Given the description of an element on the screen output the (x, y) to click on. 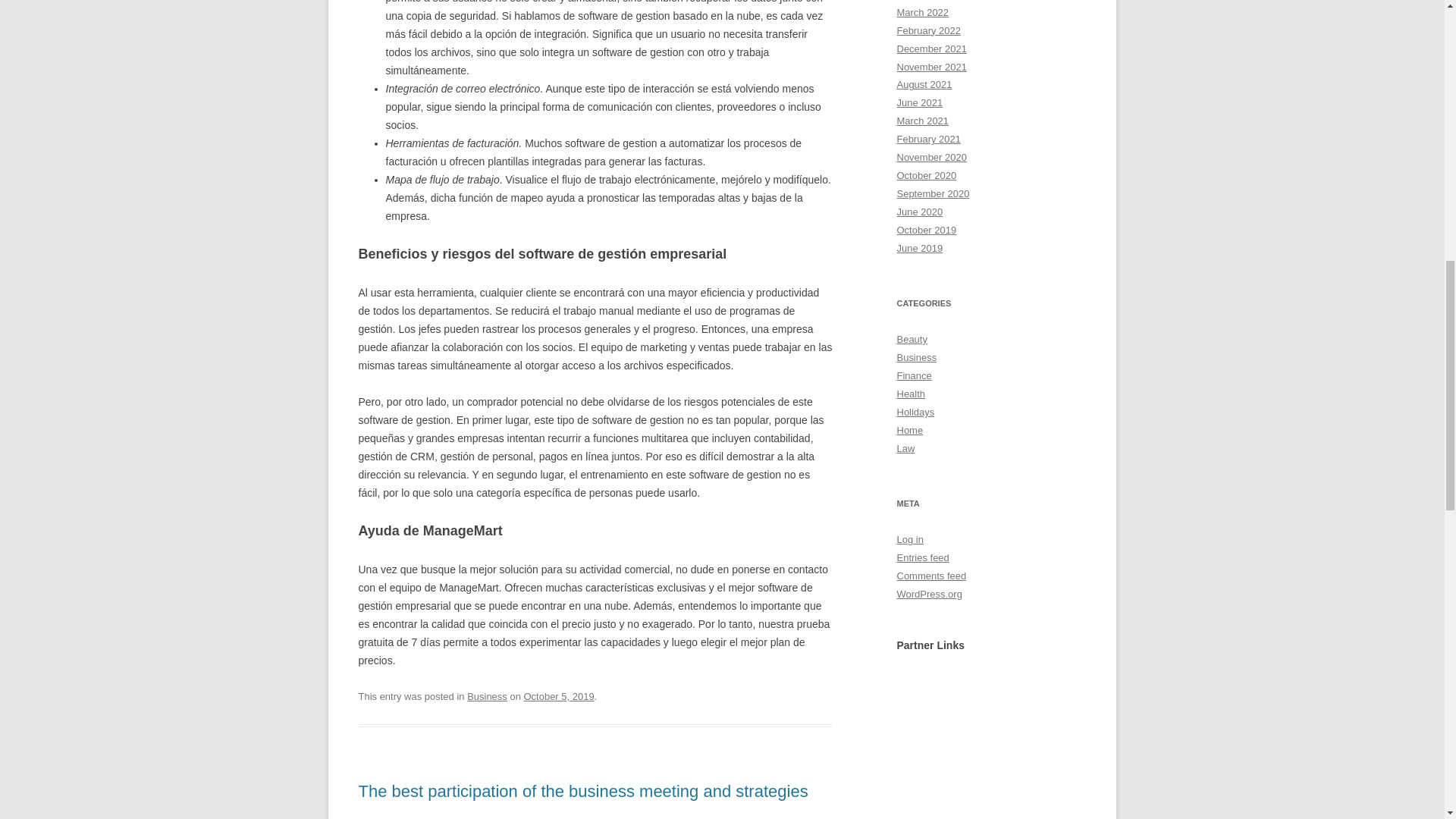
October 5, 2019 (558, 696)
November 2021 (931, 66)
December 2021 (931, 48)
7:55 am (558, 696)
Business (486, 696)
March 2022 (922, 12)
February 2022 (927, 30)
